Given the description of an element on the screen output the (x, y) to click on. 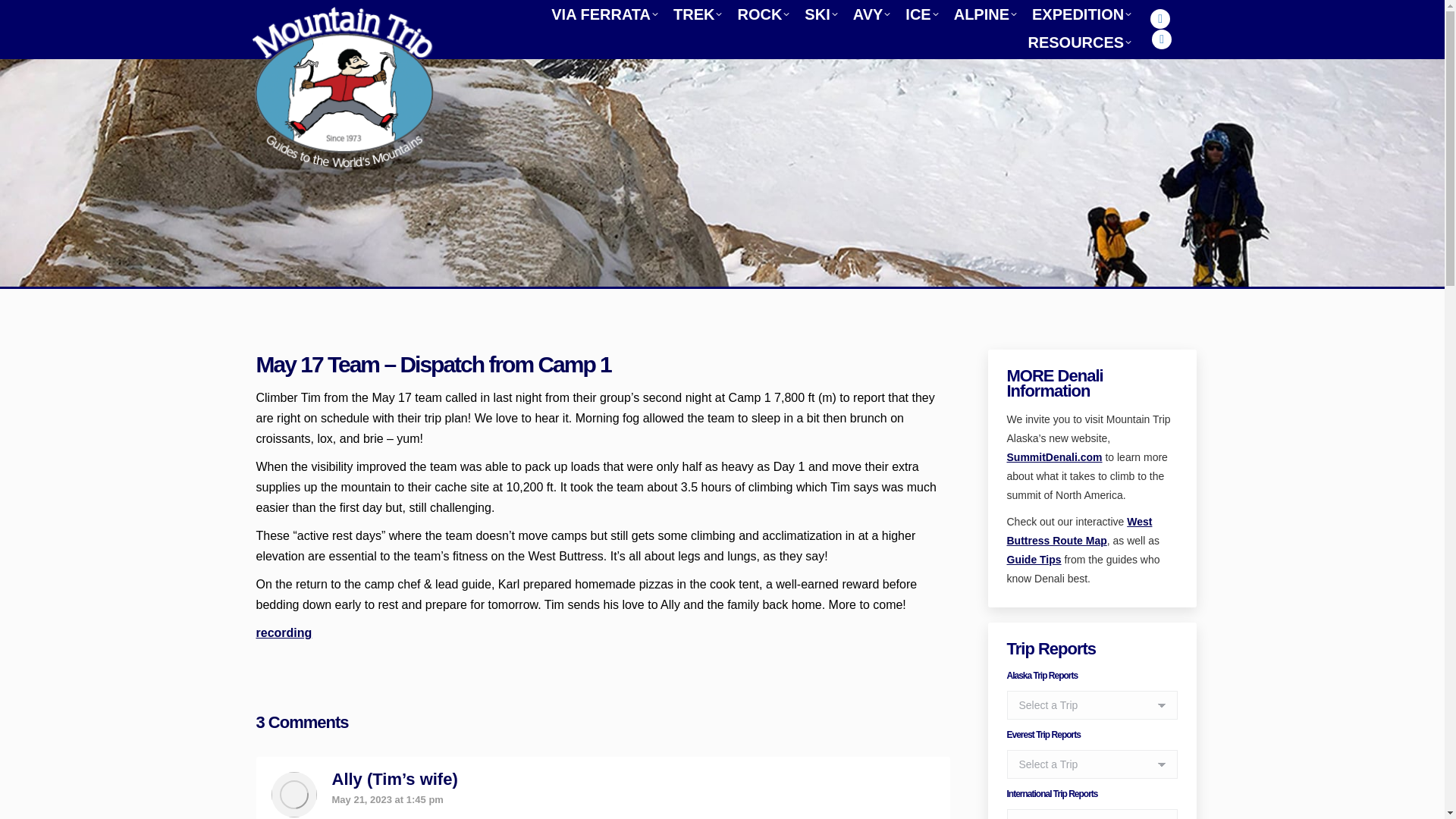
Facebook page opens in new window (1161, 38)
Instagram page opens in new window (1160, 18)
ROCK (763, 14)
ALPINE (985, 14)
VIA FERRATA (604, 14)
TREK (697, 14)
AVY (871, 14)
SKI (820, 14)
ICE (921, 14)
